Given the description of an element on the screen output the (x, y) to click on. 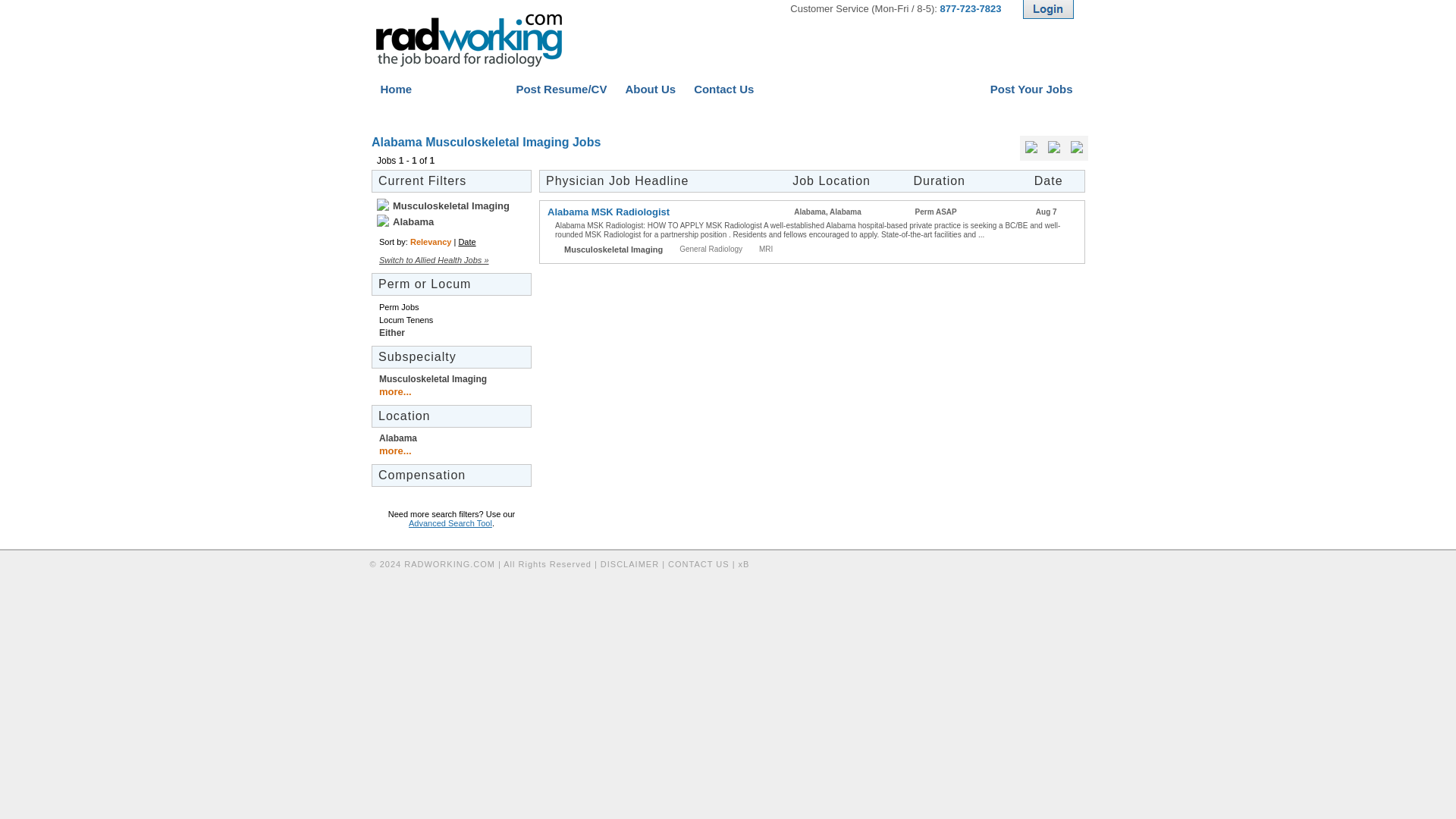
To Sort by Date, use the Job Filters (1055, 180)
Home Page (469, 40)
Musculoskeletal Imaging (443, 205)
Locum Tenens (405, 319)
Mammo Positions (854, 113)
About Us (649, 89)
Alabama (405, 221)
more... (395, 391)
Radiology Jobs (411, 113)
Nuc Med Positions (757, 113)
